Given the description of an element on the screen output the (x, y) to click on. 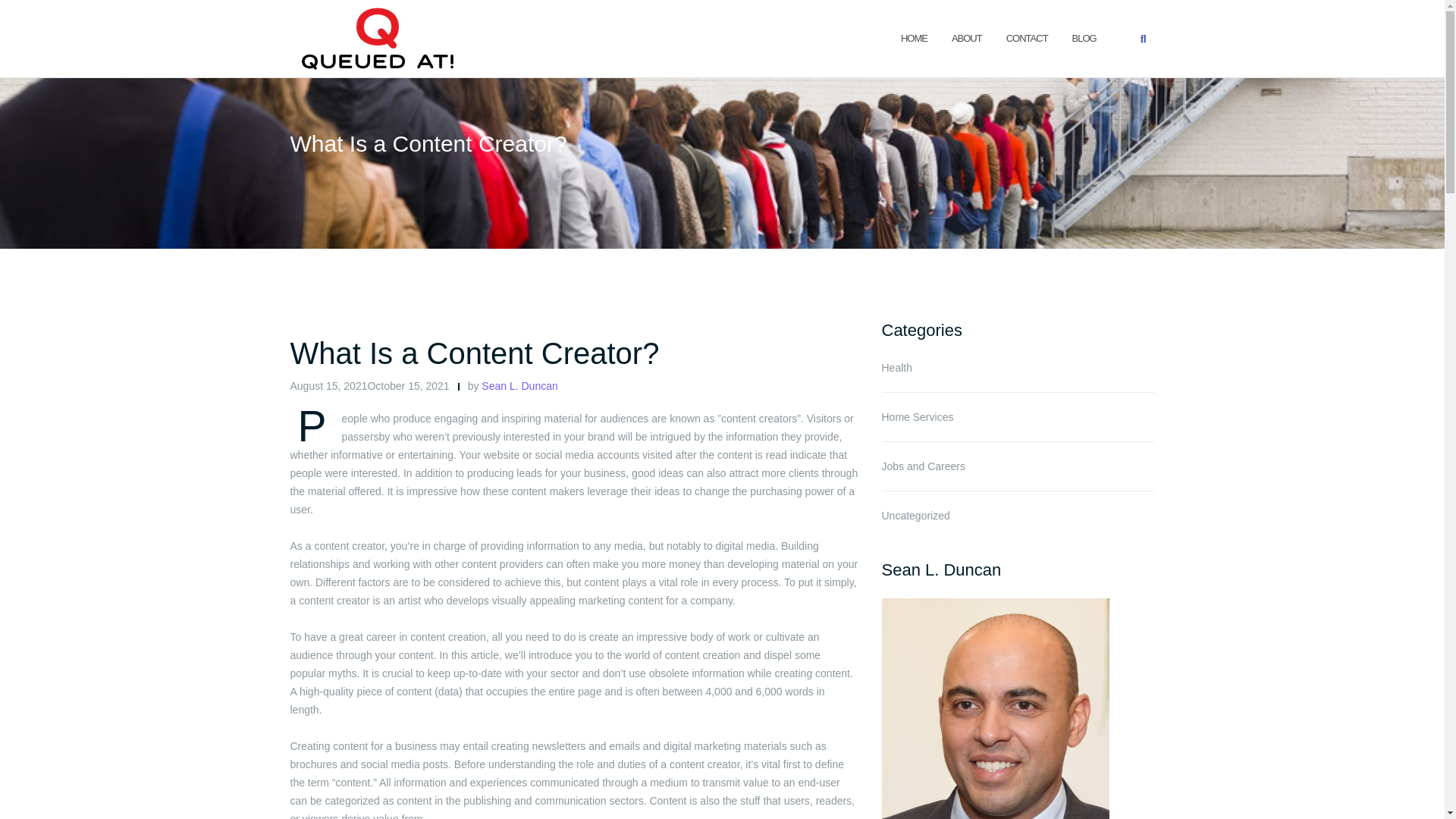
Sean L. Duncan (519, 386)
CONTACT (1027, 38)
Contact (1027, 38)
What Is a Content Creator? (474, 353)
Health (895, 367)
Sean L. Duncan (519, 386)
